Given the description of an element on the screen output the (x, y) to click on. 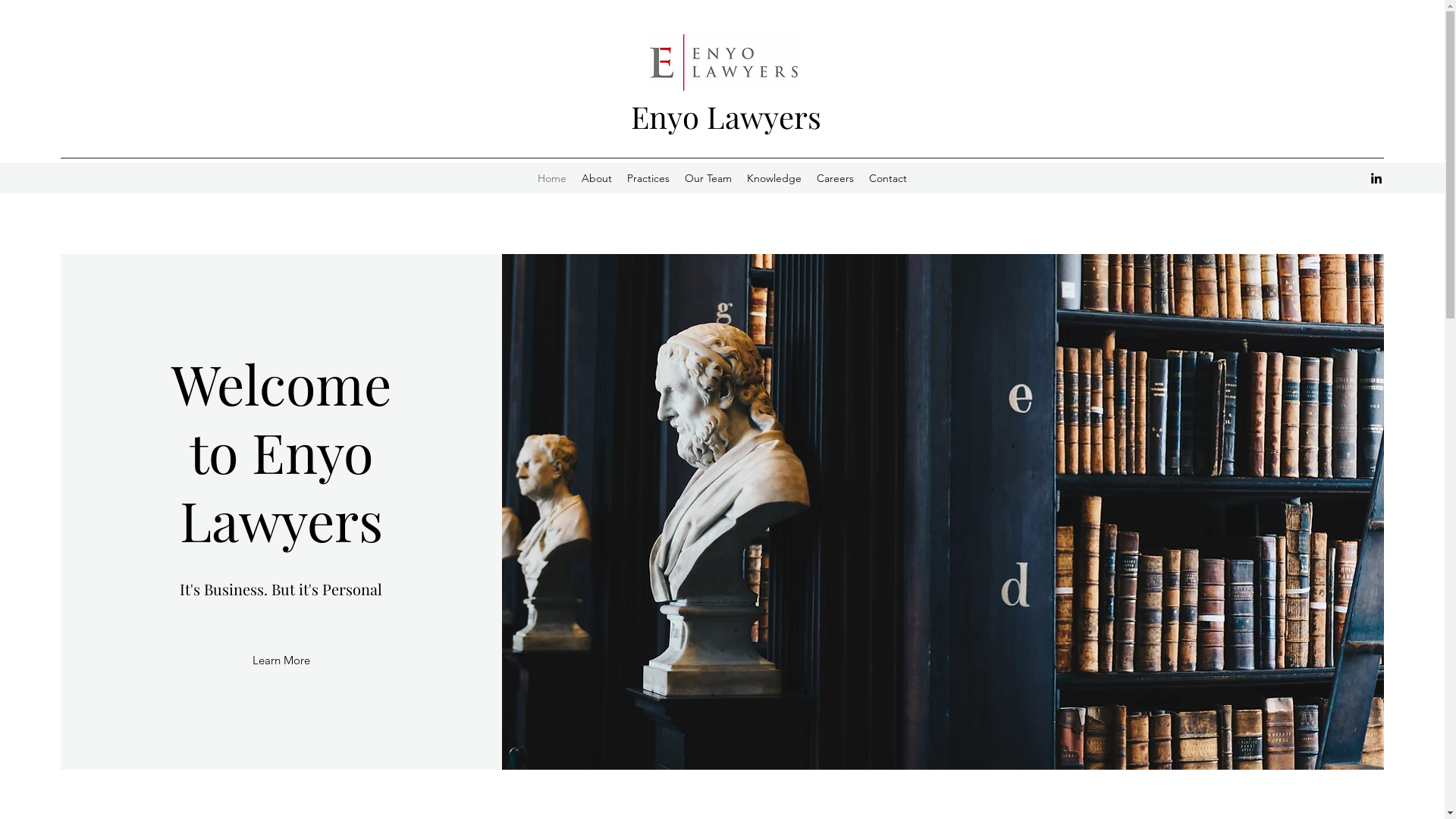
Learn More Element type: text (281, 660)
Knowledge Element type: text (774, 177)
Careers Element type: text (835, 177)
About Element type: text (596, 177)
Contact Element type: text (887, 177)
Our Team Element type: text (708, 177)
Enyo Lawyers Element type: text (725, 116)
Practices Element type: text (648, 177)
Home Element type: text (552, 177)
